Given the description of an element on the screen output the (x, y) to click on. 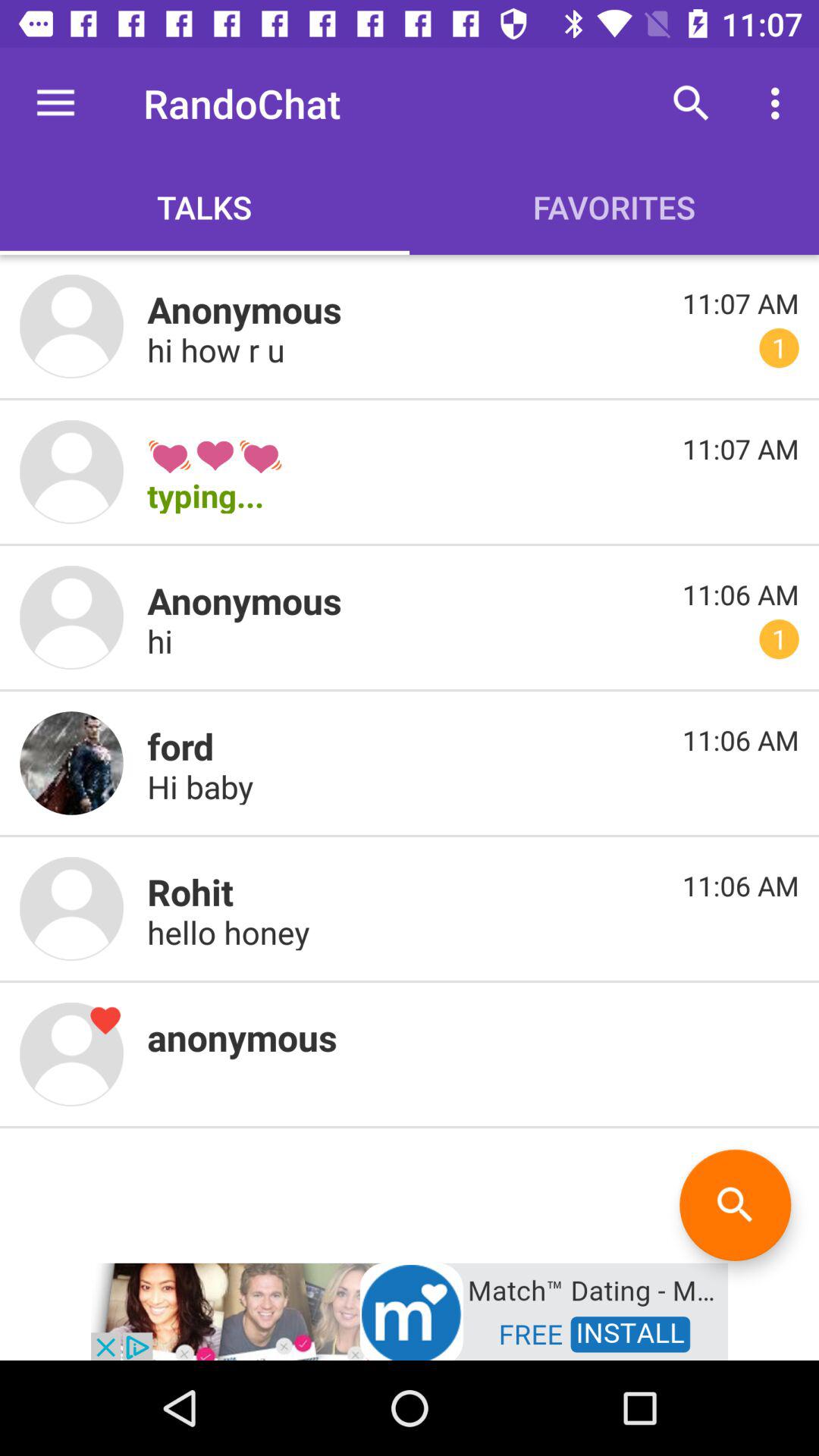
open message (71, 763)
